Given the description of an element on the screen output the (x, y) to click on. 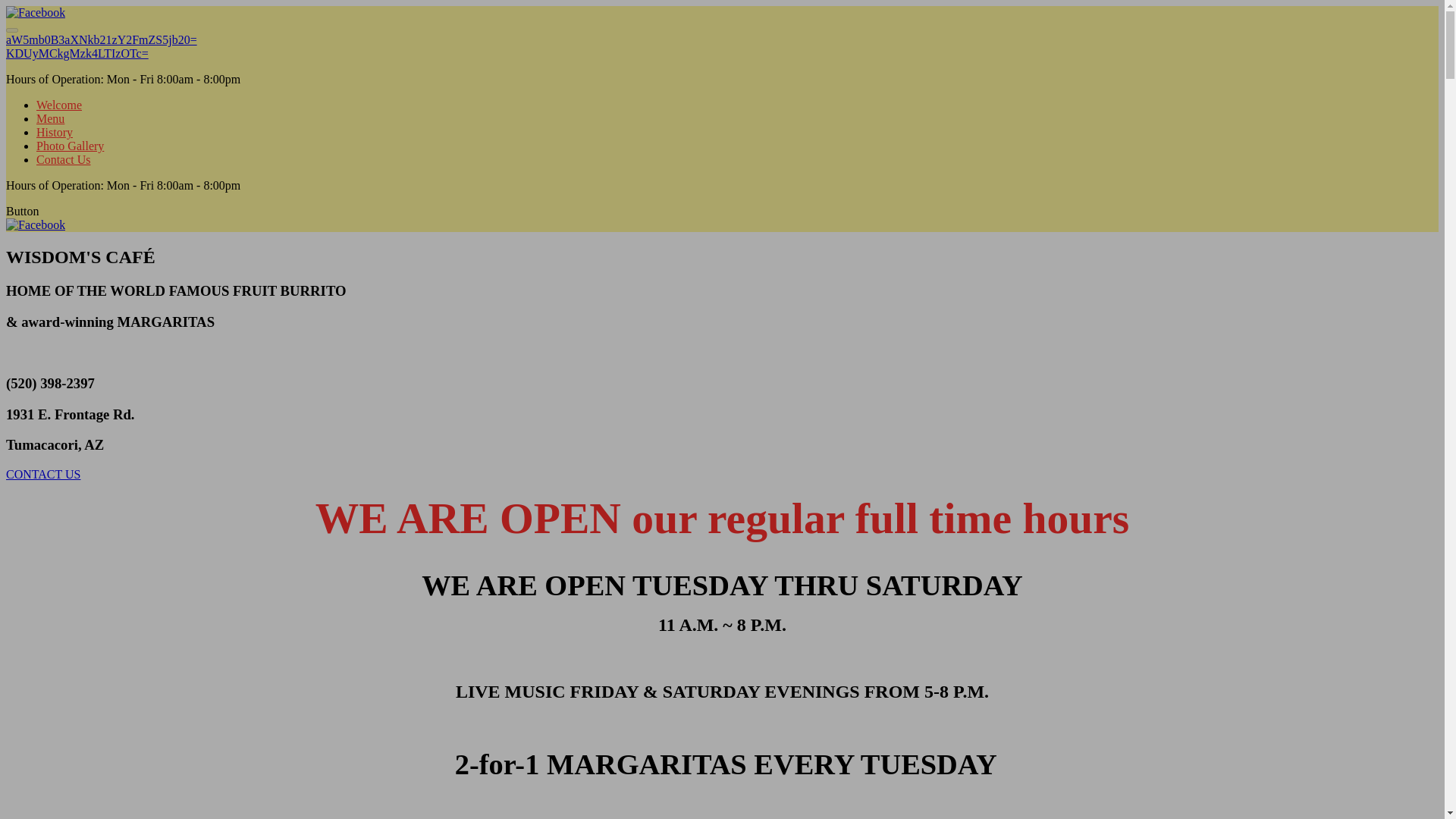
CONTACT US (42, 473)
Photo Gallery (69, 145)
Facebook (35, 224)
Welcome (58, 104)
History (54, 132)
Contact Us (63, 159)
Menu (50, 118)
Facebook (35, 11)
Button (22, 210)
